Given the description of an element on the screen output the (x, y) to click on. 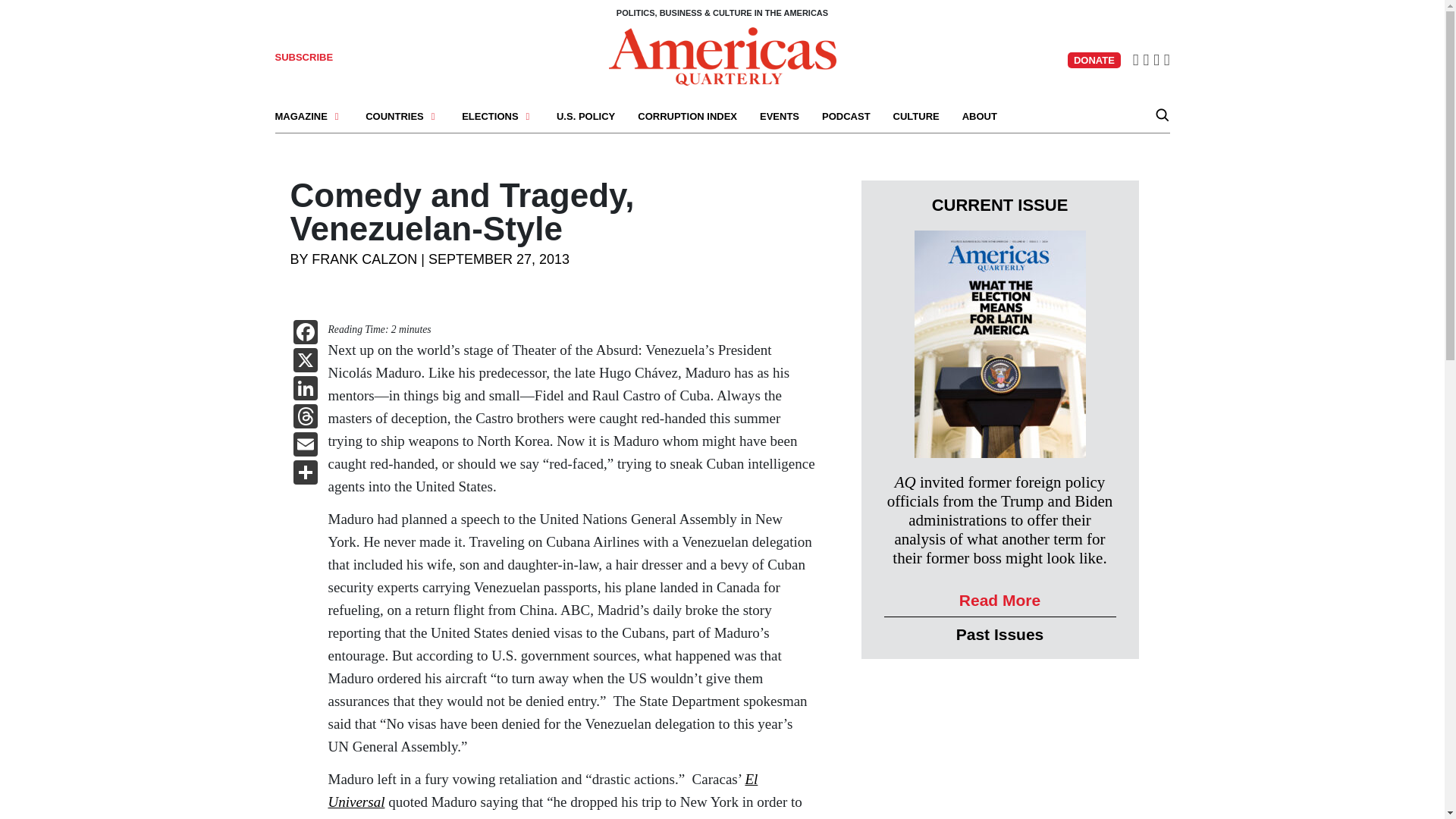
Facebook (304, 334)
SUBSCRIBE (304, 57)
Email (304, 446)
LinkedIn (304, 389)
DONATE (1094, 59)
X (304, 361)
Americas Quarterly (721, 54)
Threads (304, 418)
Americas Quarterly (721, 56)
